Given the description of an element on the screen output the (x, y) to click on. 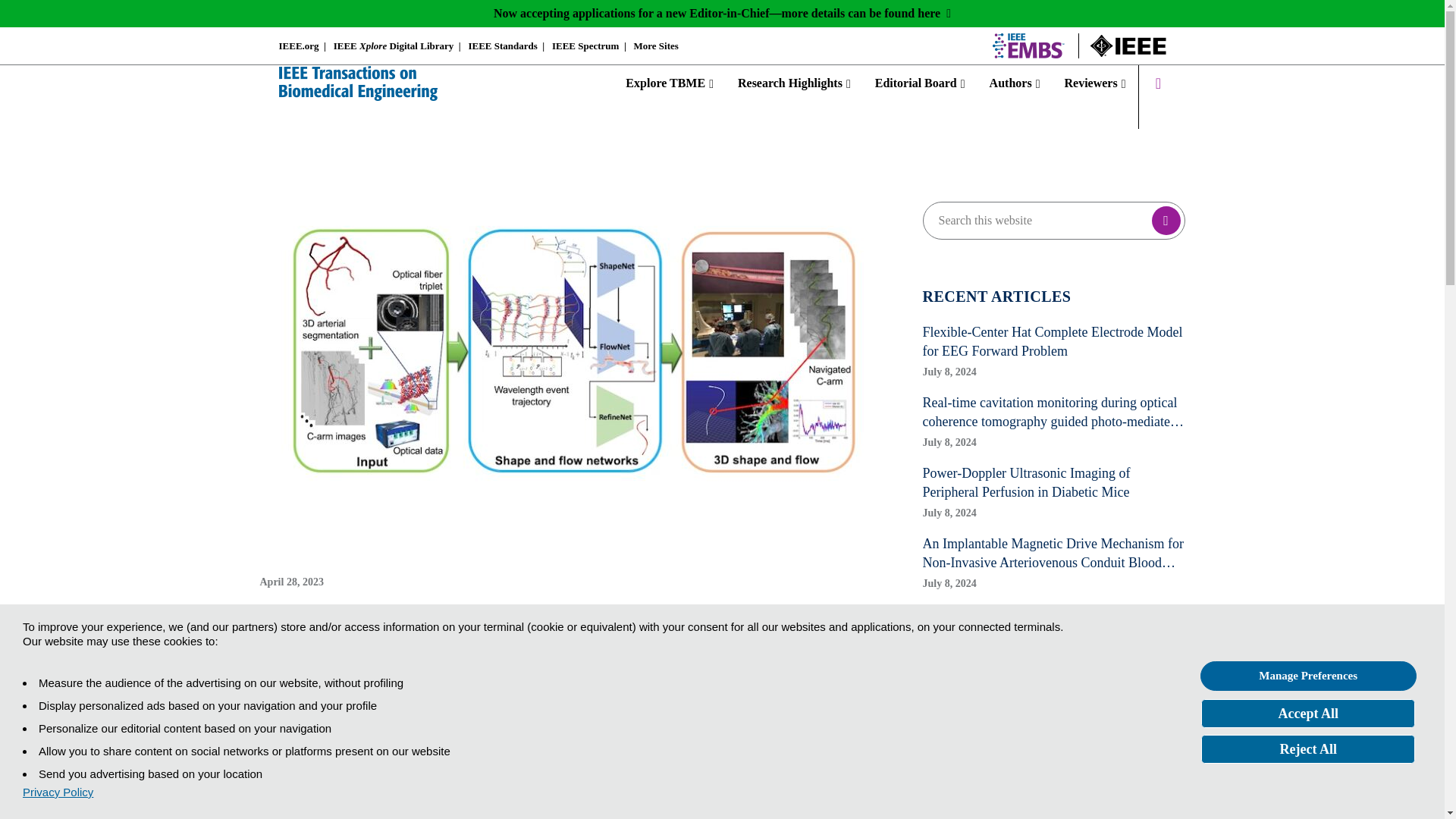
IEEE.org (1128, 45)
more details can be found here (865, 12)
Research Highlights (794, 82)
IEEE Xplore Digital Library (393, 45)
More Sites (655, 45)
IEEE.org (298, 45)
Manage Preferences (1307, 675)
Privacy Policy (58, 792)
Explore TBME (675, 82)
embs.org (1028, 45)
Accept All (1308, 713)
IEEE Standards (502, 45)
Reject All (1308, 748)
Editorial Board (919, 82)
IEEE Spectrum (584, 45)
